Given the description of an element on the screen output the (x, y) to click on. 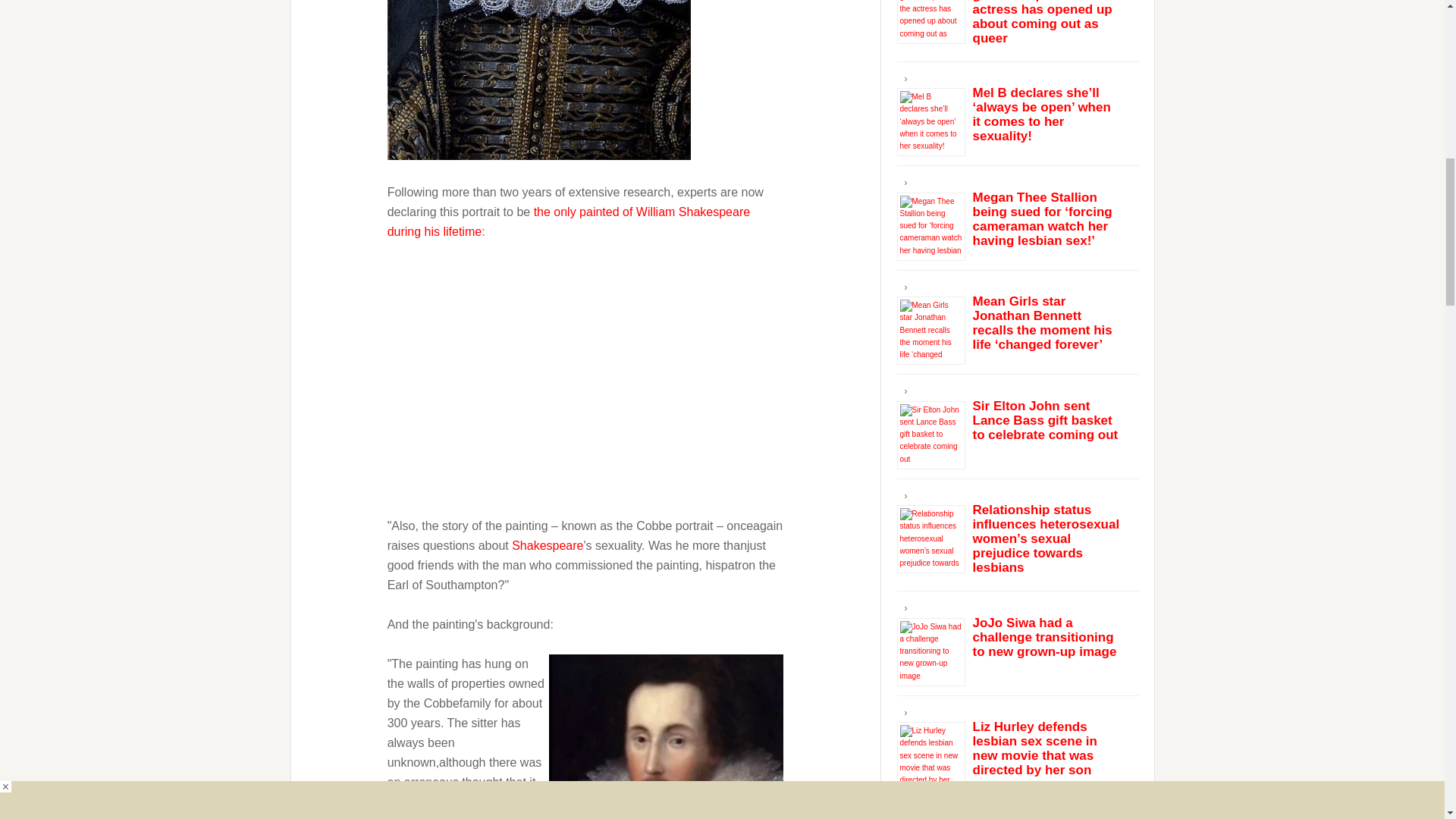
the only painted of William Shakespeare during his lifetime (569, 220)
Posts tagged with shakespeare (547, 544)
Folger (665, 736)
Shakespeare (547, 544)
Shakespeare (538, 79)
